Given the description of an element on the screen output the (x, y) to click on. 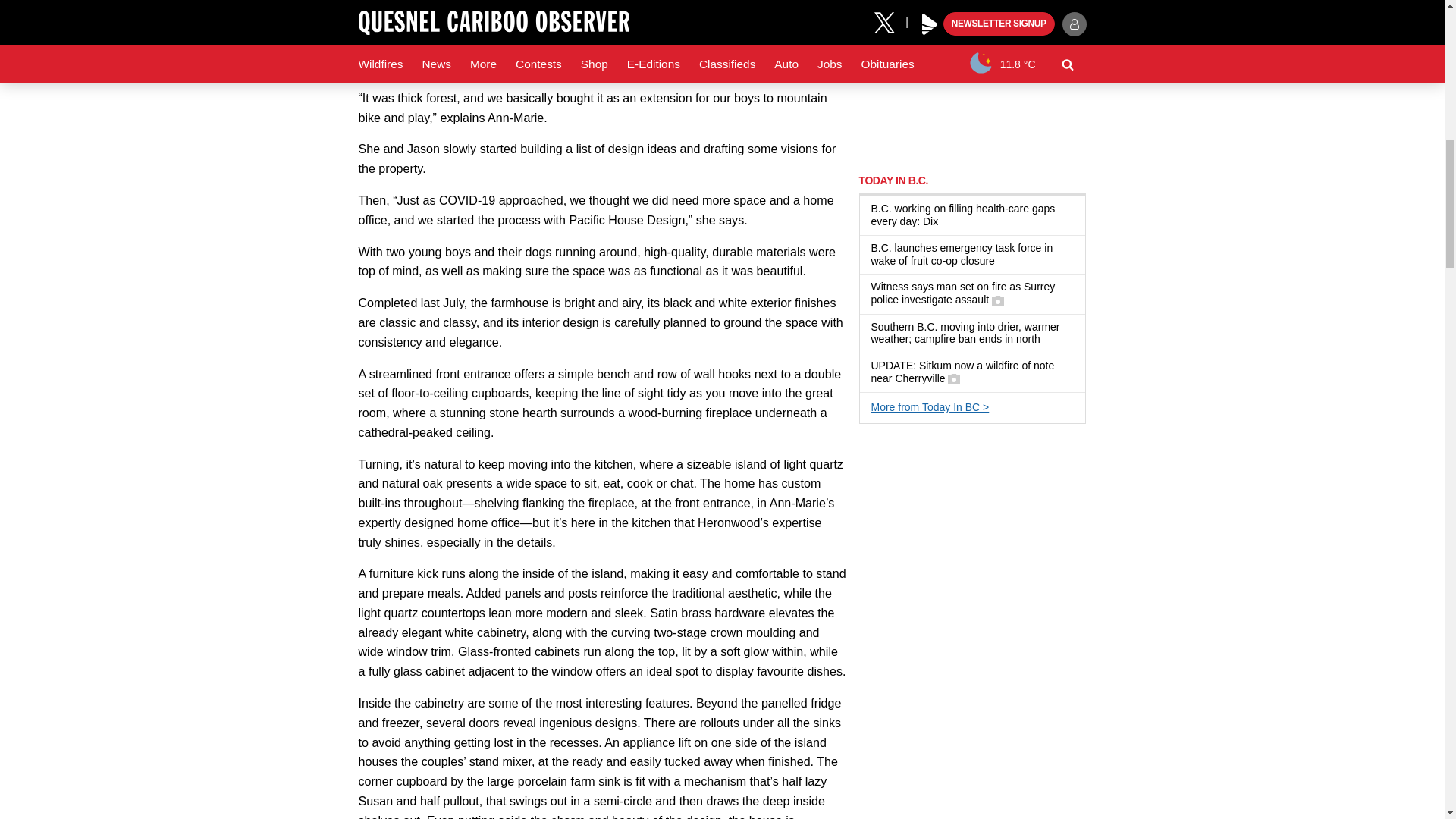
Has a gallery (997, 300)
Has a gallery (953, 378)
